Given the description of an element on the screen output the (x, y) to click on. 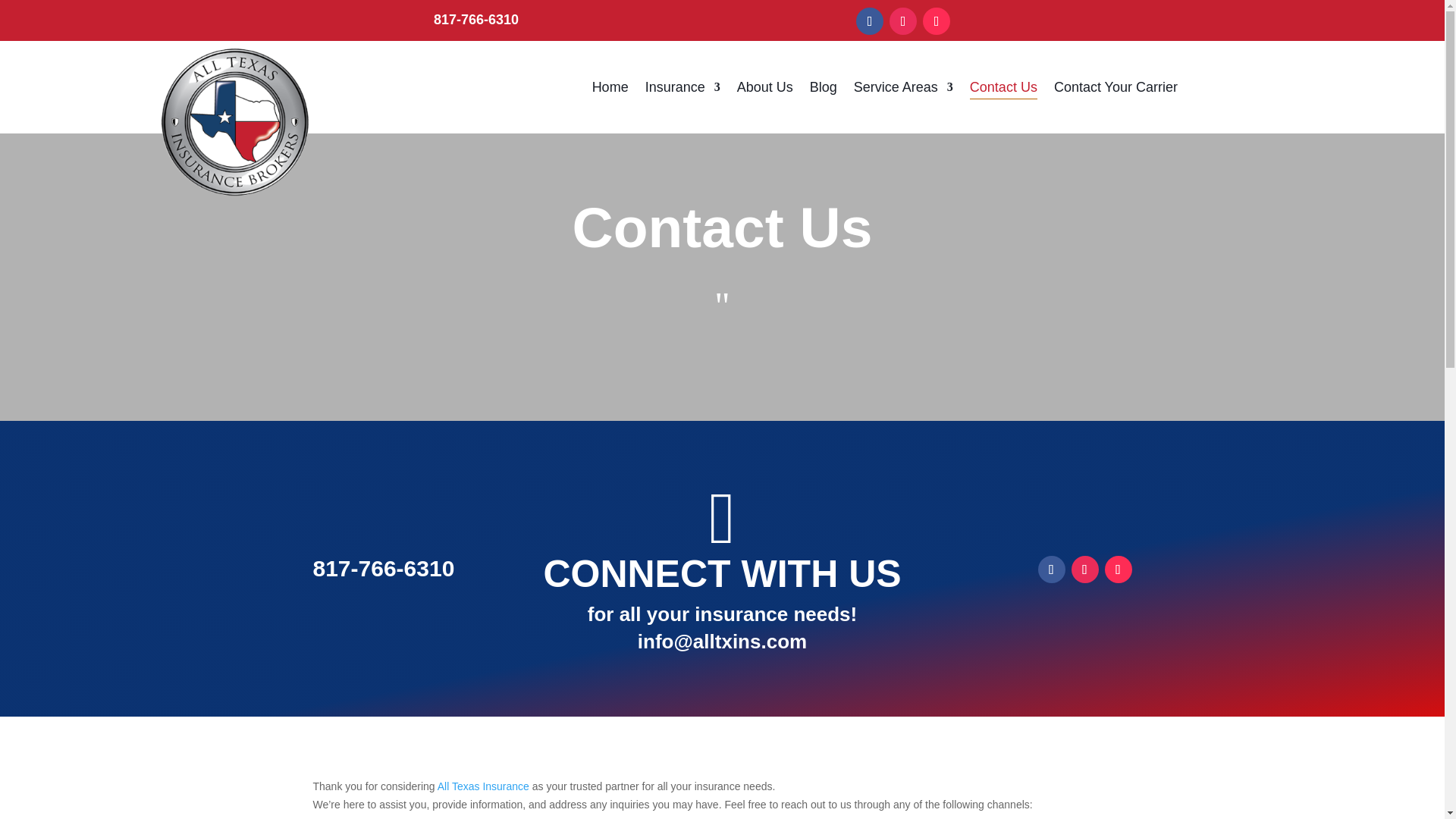
Follow on Instagram (1083, 569)
Follow on TikTok (1117, 569)
817-766-6310 (383, 568)
Follow on Facebook (1050, 569)
Follow on Facebook (869, 21)
Follow on TikTok (936, 21)
cropped-all-texas-insurance-brokers-circle.png (233, 121)
Insurance (682, 90)
Blog (823, 90)
Service Areas (903, 90)
